Given the description of an element on the screen output the (x, y) to click on. 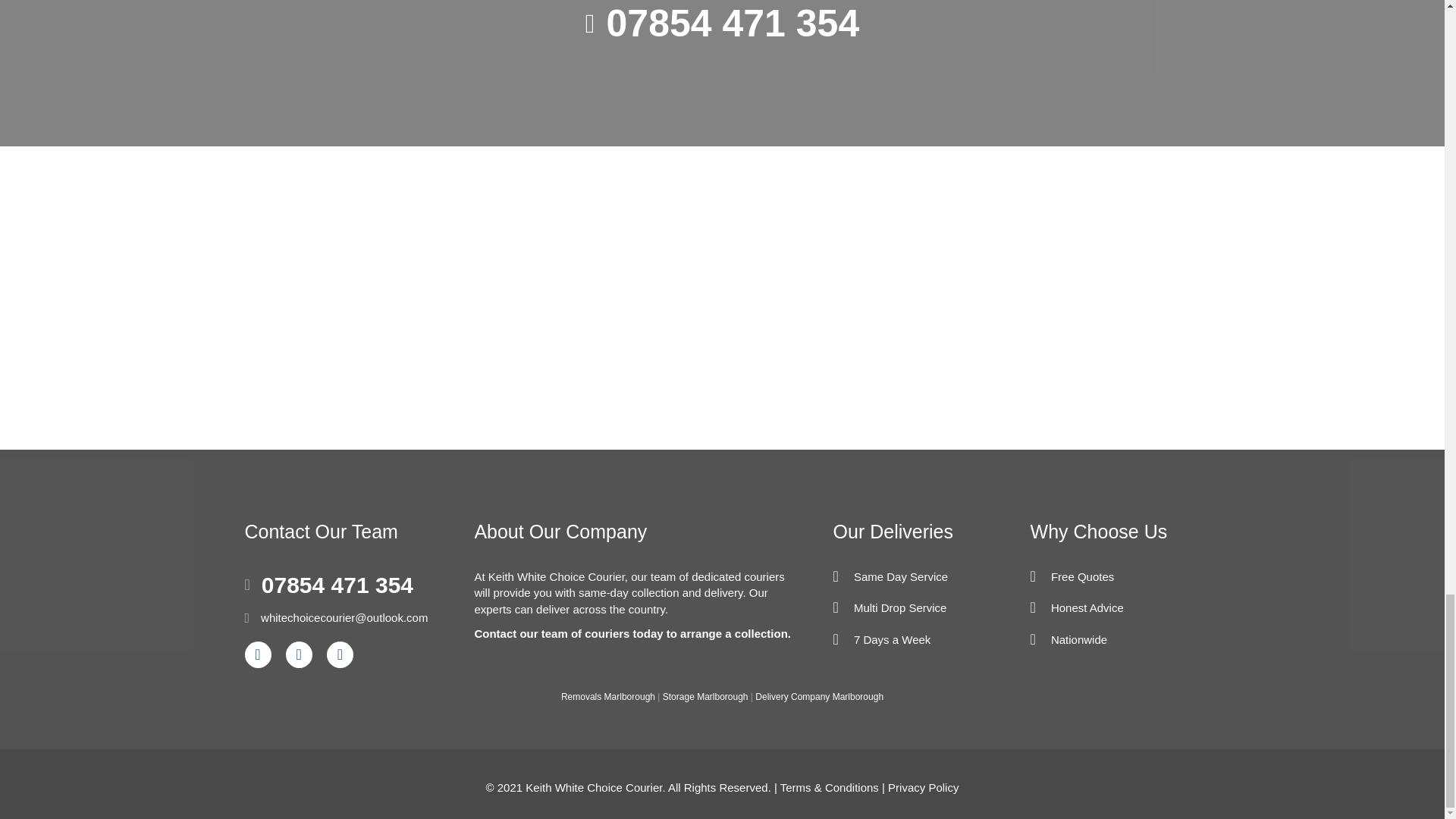
07854 471 354 (733, 25)
Removals Marlborough (607, 696)
Privacy Policy (923, 787)
Storage Marlborough (705, 696)
Delivery Company Marlborough (819, 696)
